Given the description of an element on the screen output the (x, y) to click on. 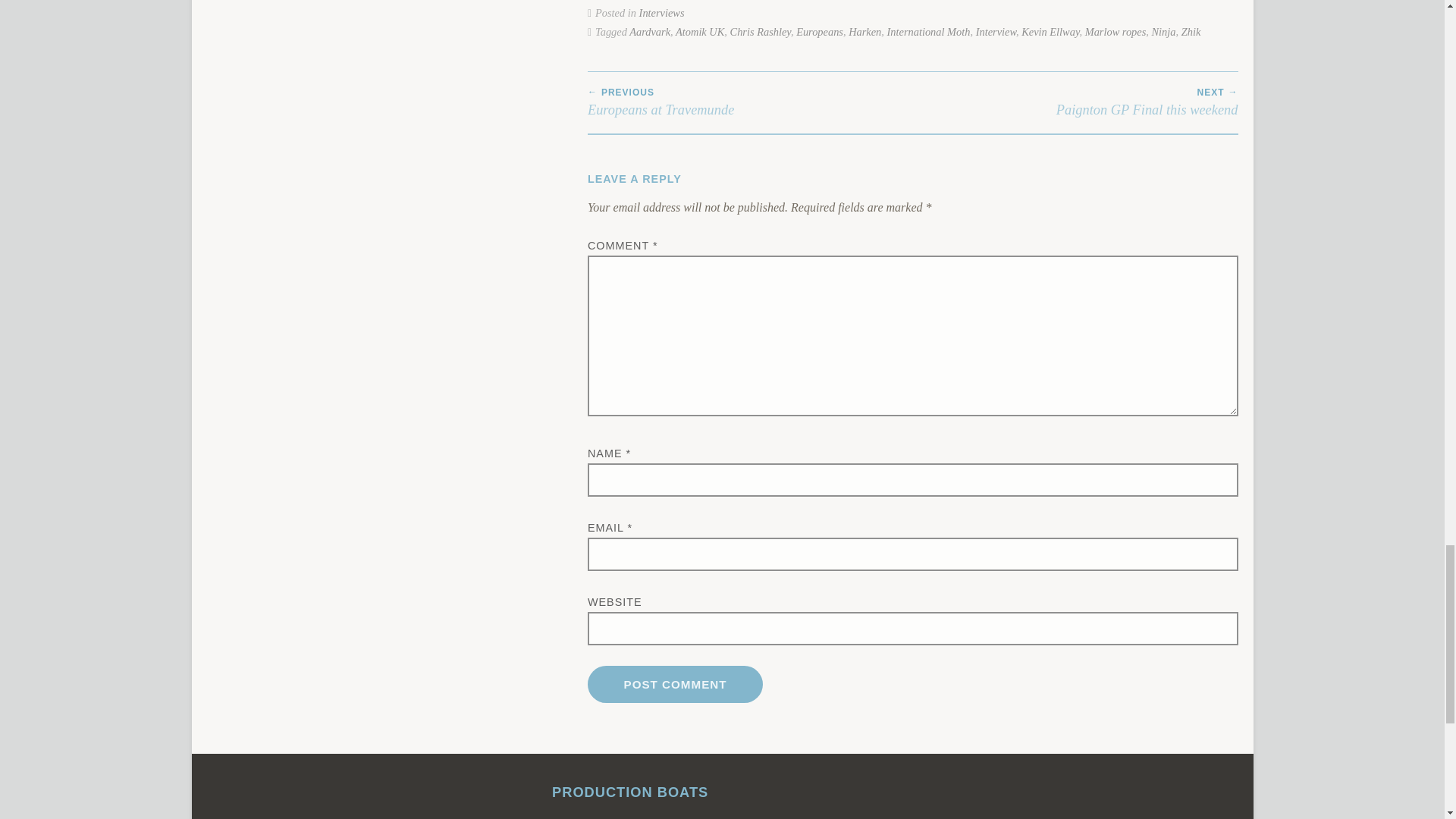
Post Comment (675, 684)
Chris Rashley (760, 31)
Interviews (661, 12)
Post Comment (675, 684)
Zhik (1190, 31)
Europeans (819, 31)
Harken (864, 31)
Kevin Ellway (750, 102)
Interview (1050, 31)
Ninja (1075, 102)
Marlow ropes (995, 31)
Atomik UK (1163, 31)
Aardvark (1115, 31)
